Given the description of an element on the screen output the (x, y) to click on. 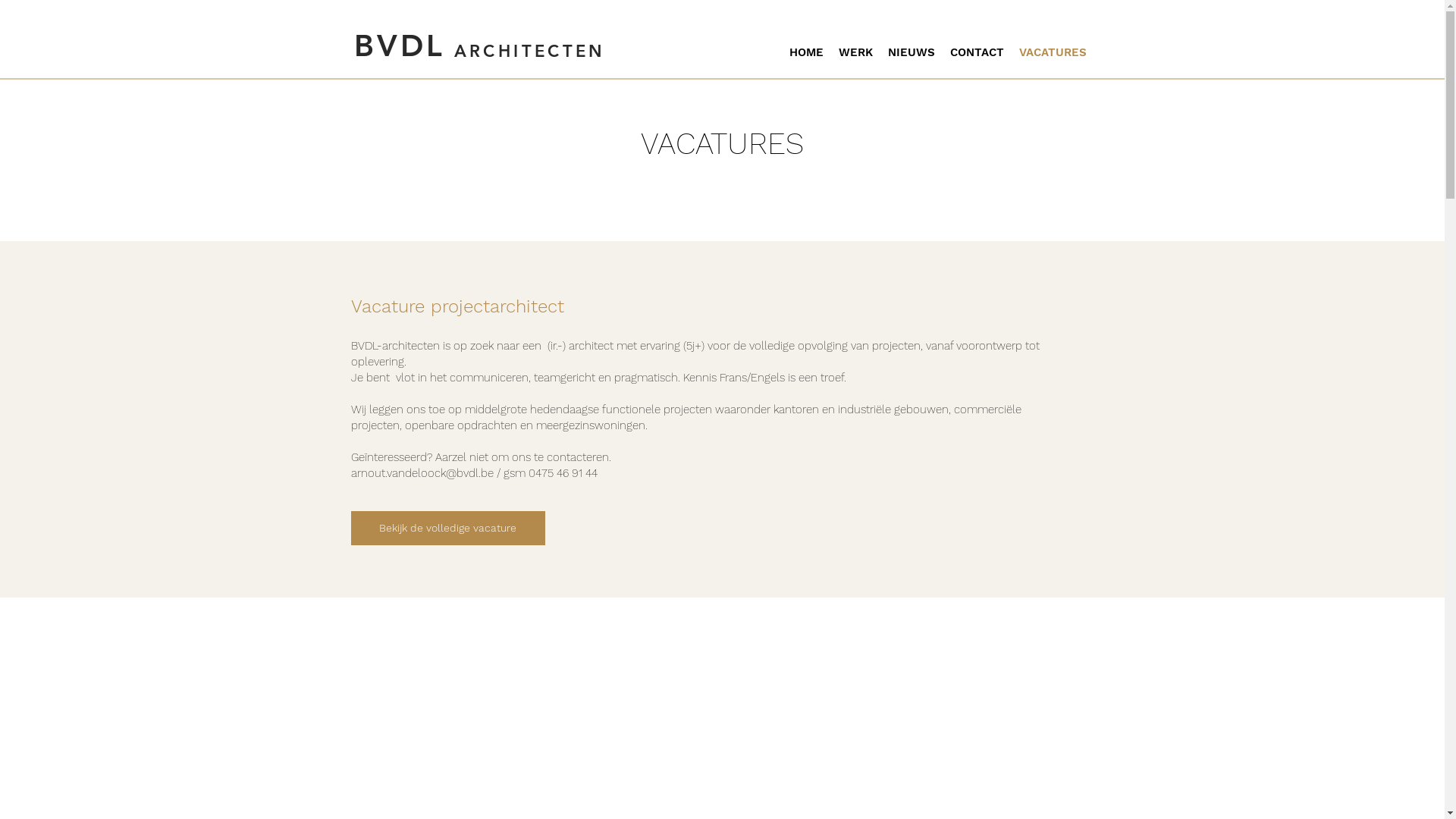
Bekijk de volledige vacature Element type: text (447, 528)
NIEUWS Element type: text (910, 51)
WERK Element type: text (855, 51)
CONTACT Element type: text (975, 51)
VACATURES Element type: text (1052, 51)
HOME Element type: text (805, 51)
arnout.vandeloock@bvdl.be Element type: text (421, 473)
